Given the description of an element on the screen output the (x, y) to click on. 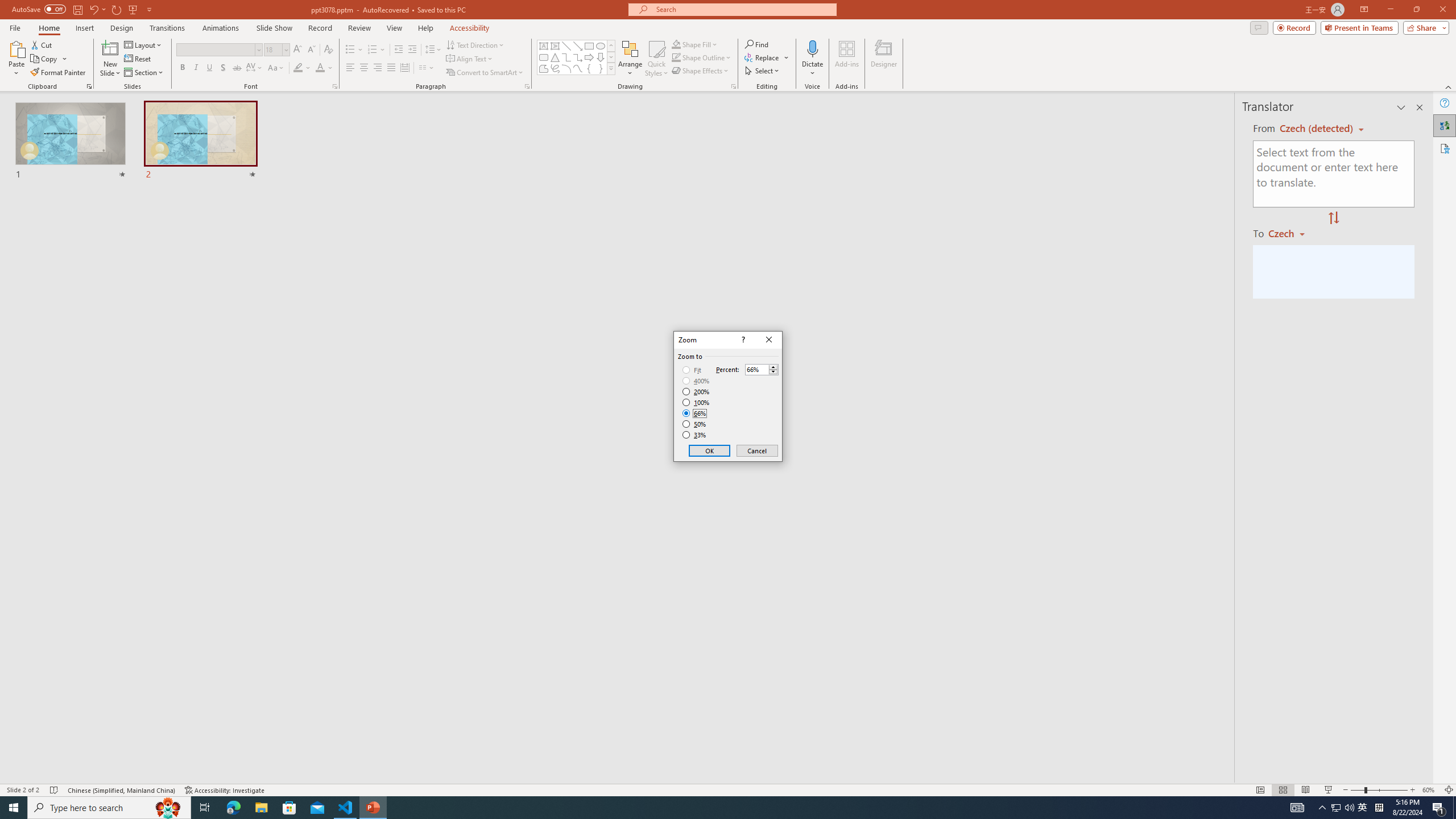
Fit (691, 370)
Shape Effects (700, 69)
Swap "from" and "to" languages. (1333, 218)
Shape Fill Dark Green, Accent 2 (675, 44)
